Given the description of an element on the screen output the (x, y) to click on. 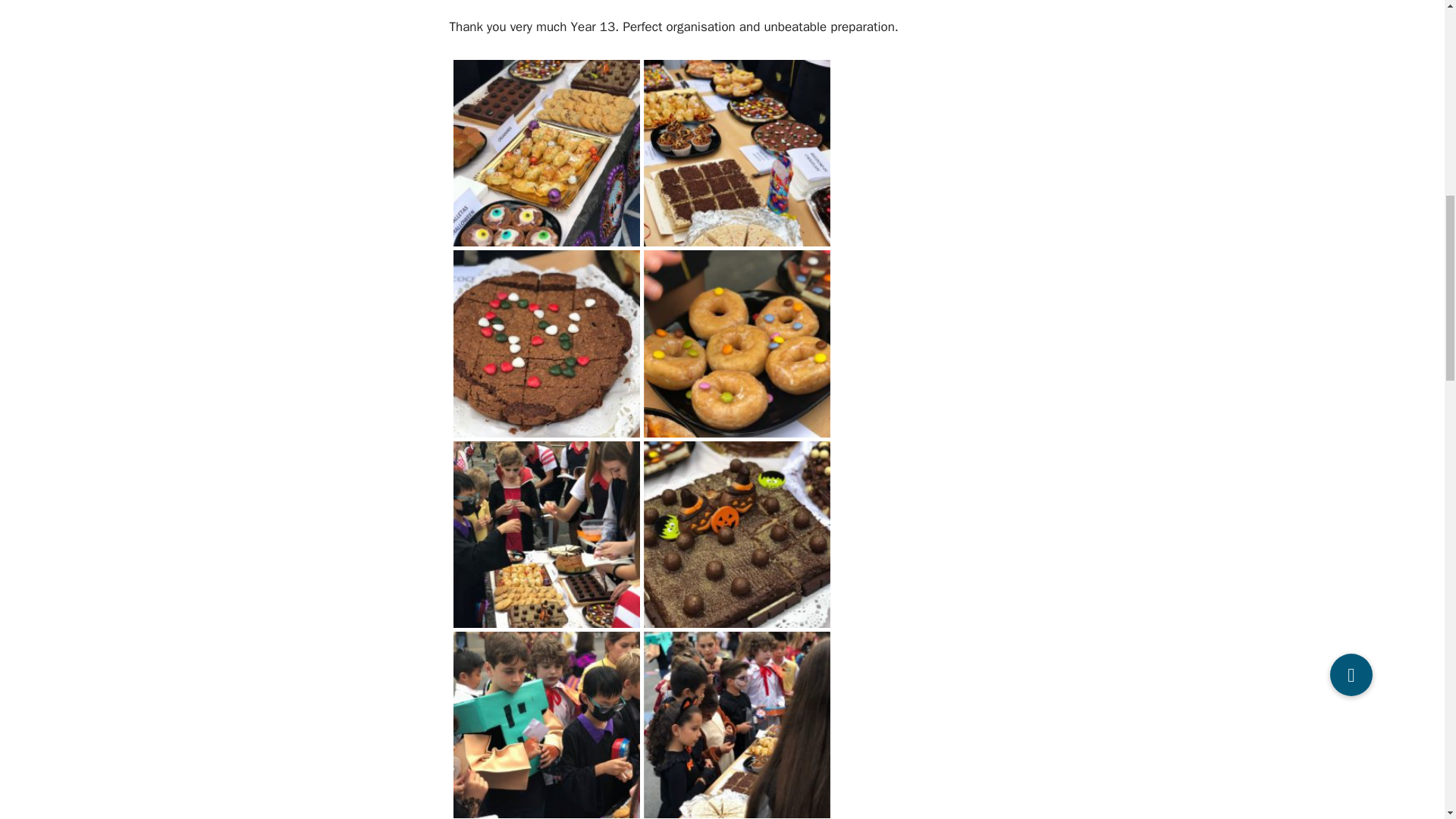
Scroll back to top (1406, 720)
